Given the description of an element on the screen output the (x, y) to click on. 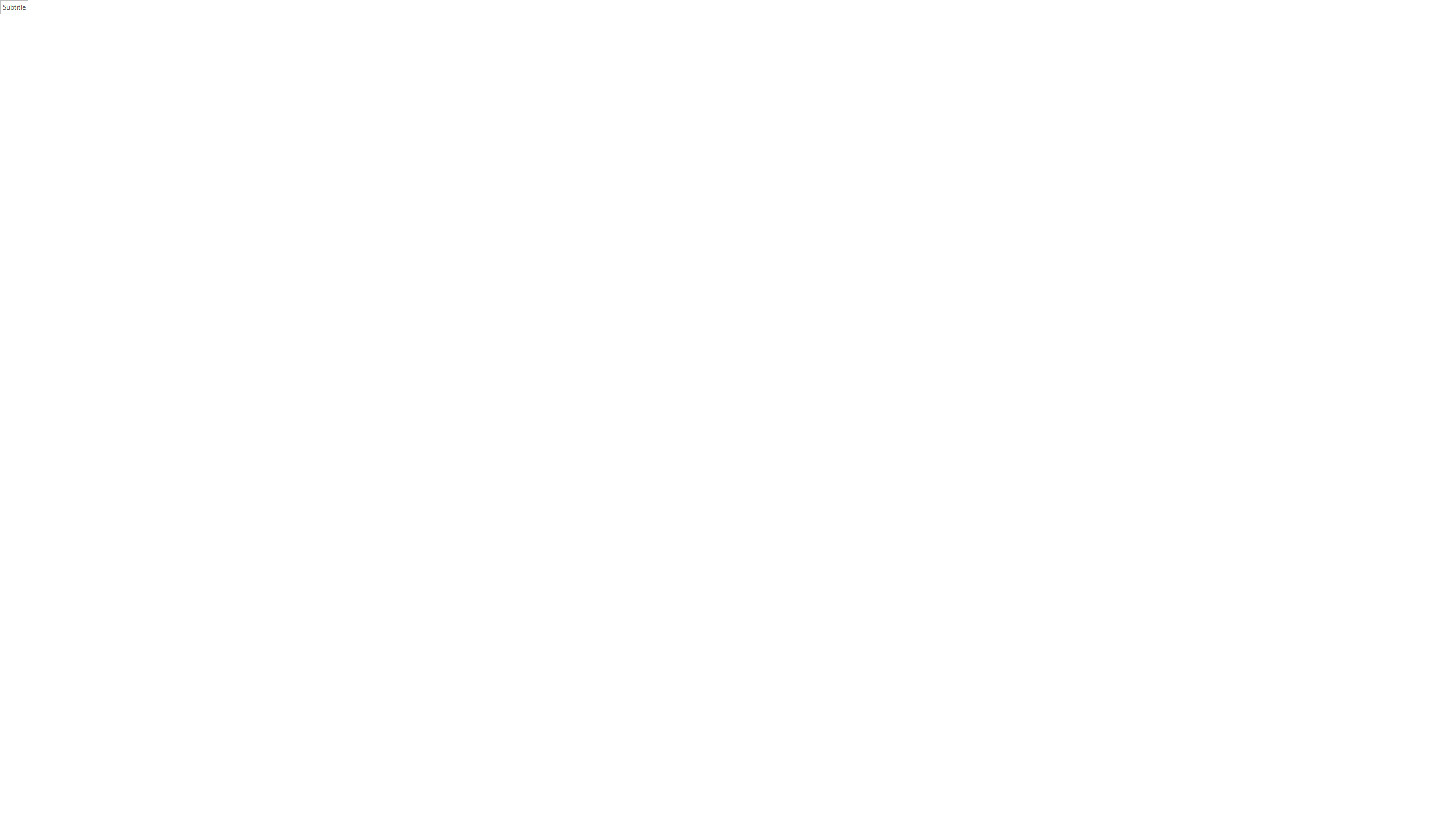
Strikethrough (154, 67)
Subtle Emphasis (727, 56)
